Given the description of an element on the screen output the (x, y) to click on. 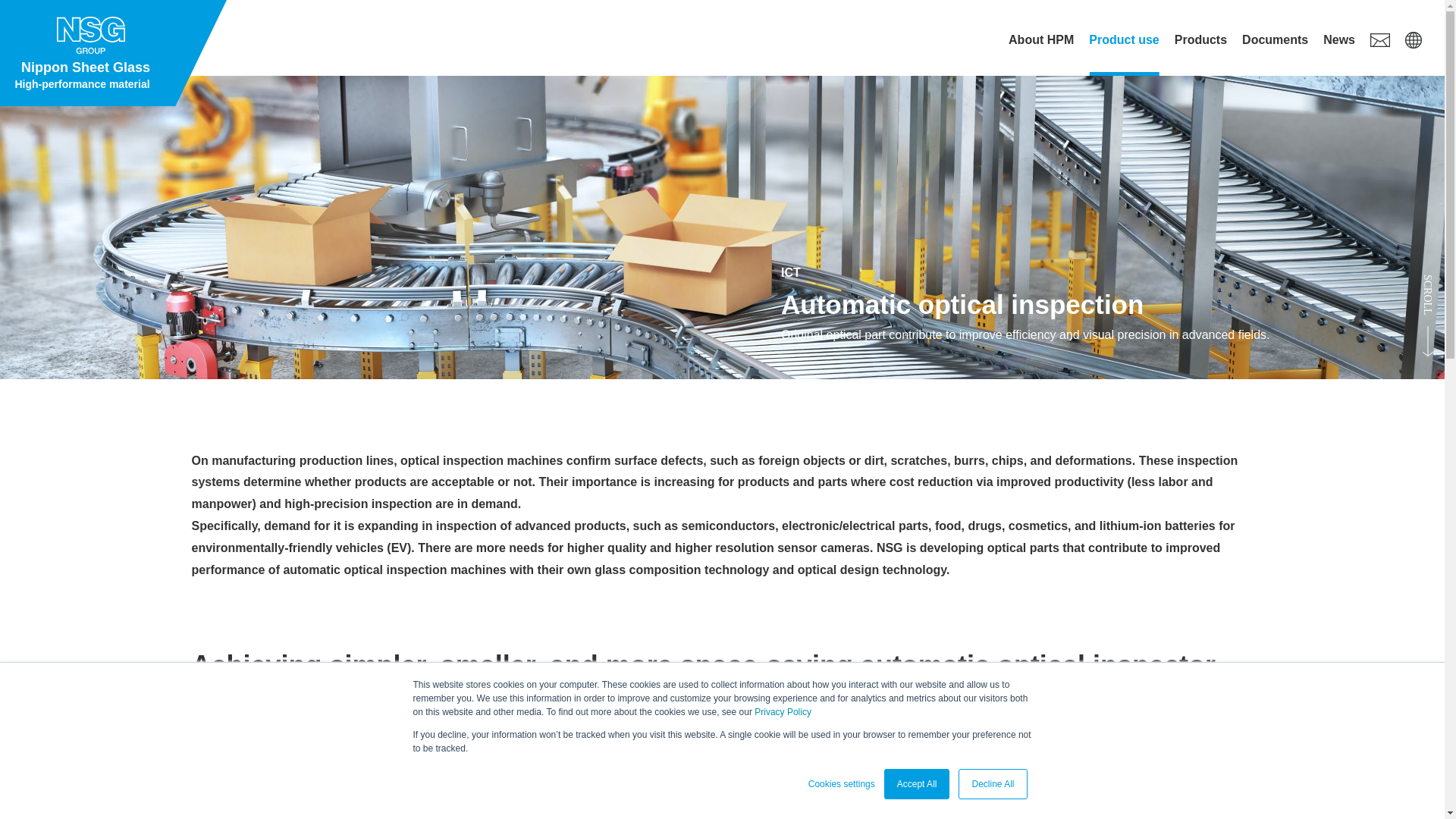
Cookies settings (841, 784)
Privacy Policy (113, 53)
About HPM (782, 711)
Decline All (1041, 39)
Products (992, 784)
Product use (1200, 39)
Accept All (1123, 39)
